Given the description of an element on the screen output the (x, y) to click on. 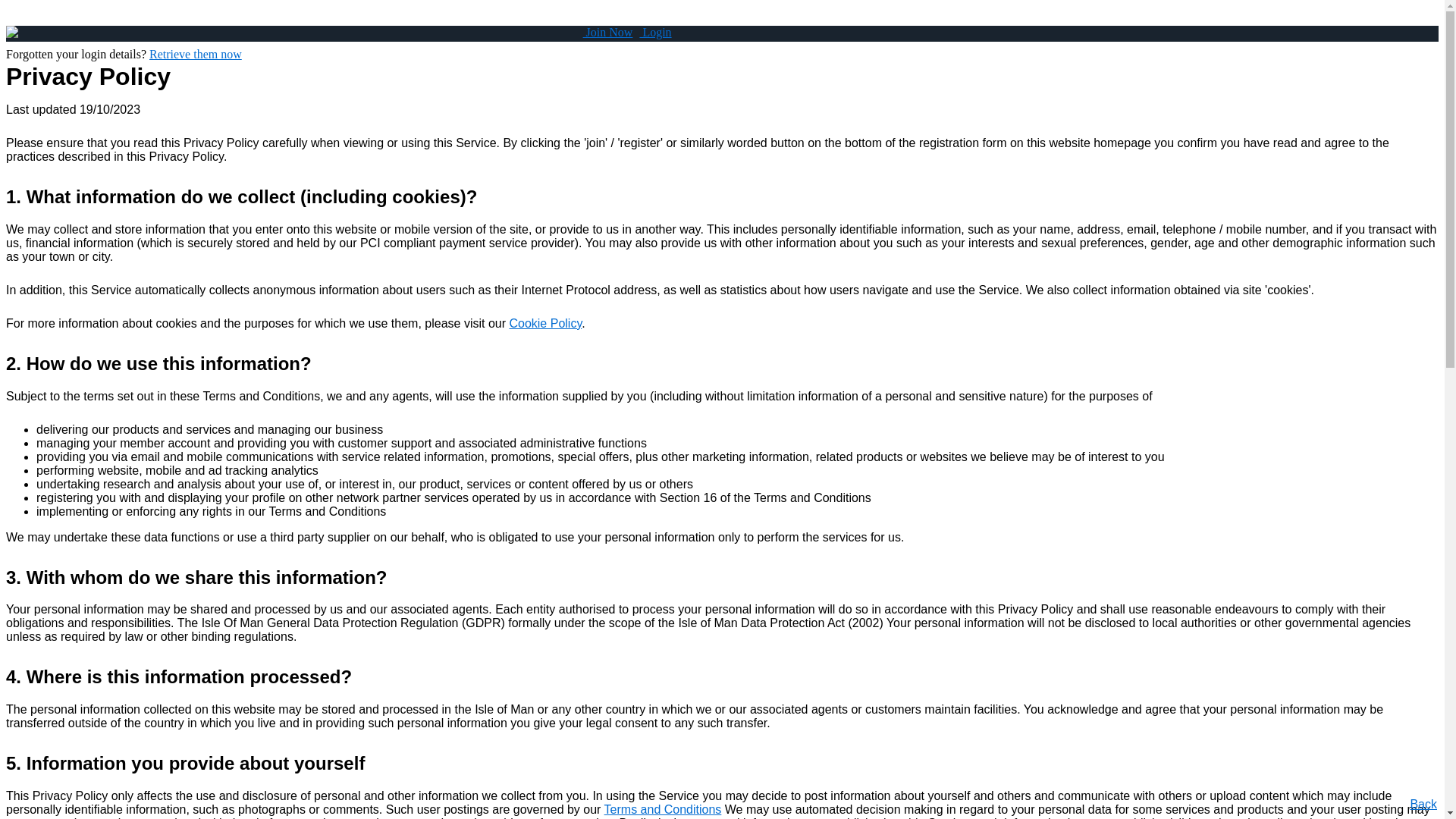
Back Element type: text (1423, 803)
Cookie Policy Element type: text (544, 322)
 Join Now Element type: text (608, 31)
 Login Element type: text (655, 31)
Terms and Conditions Element type: text (662, 809)
Retrieve them now Element type: text (195, 53)
